Given the description of an element on the screen output the (x, y) to click on. 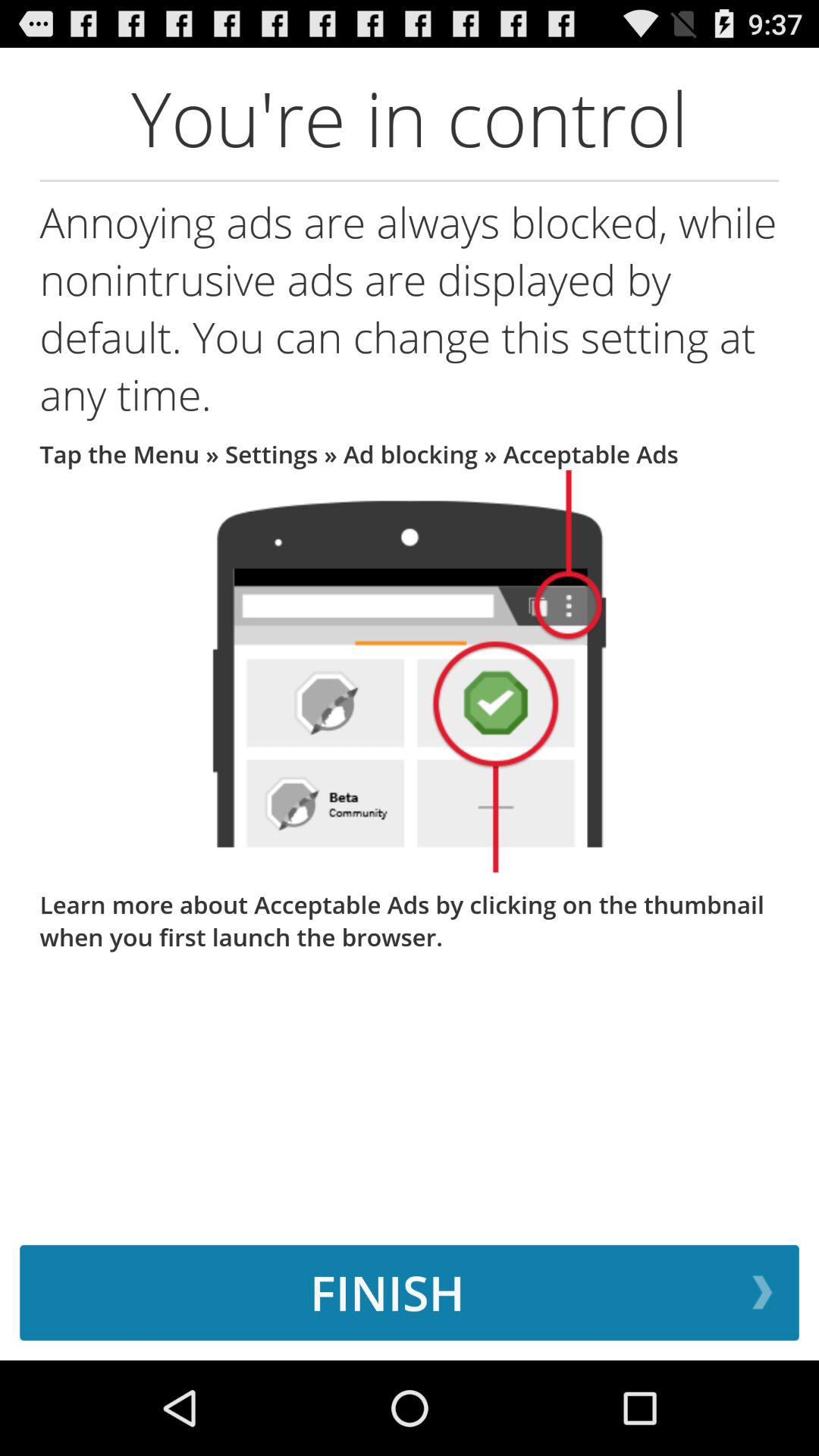
press button at the bottom (409, 1292)
